Given the description of an element on the screen output the (x, y) to click on. 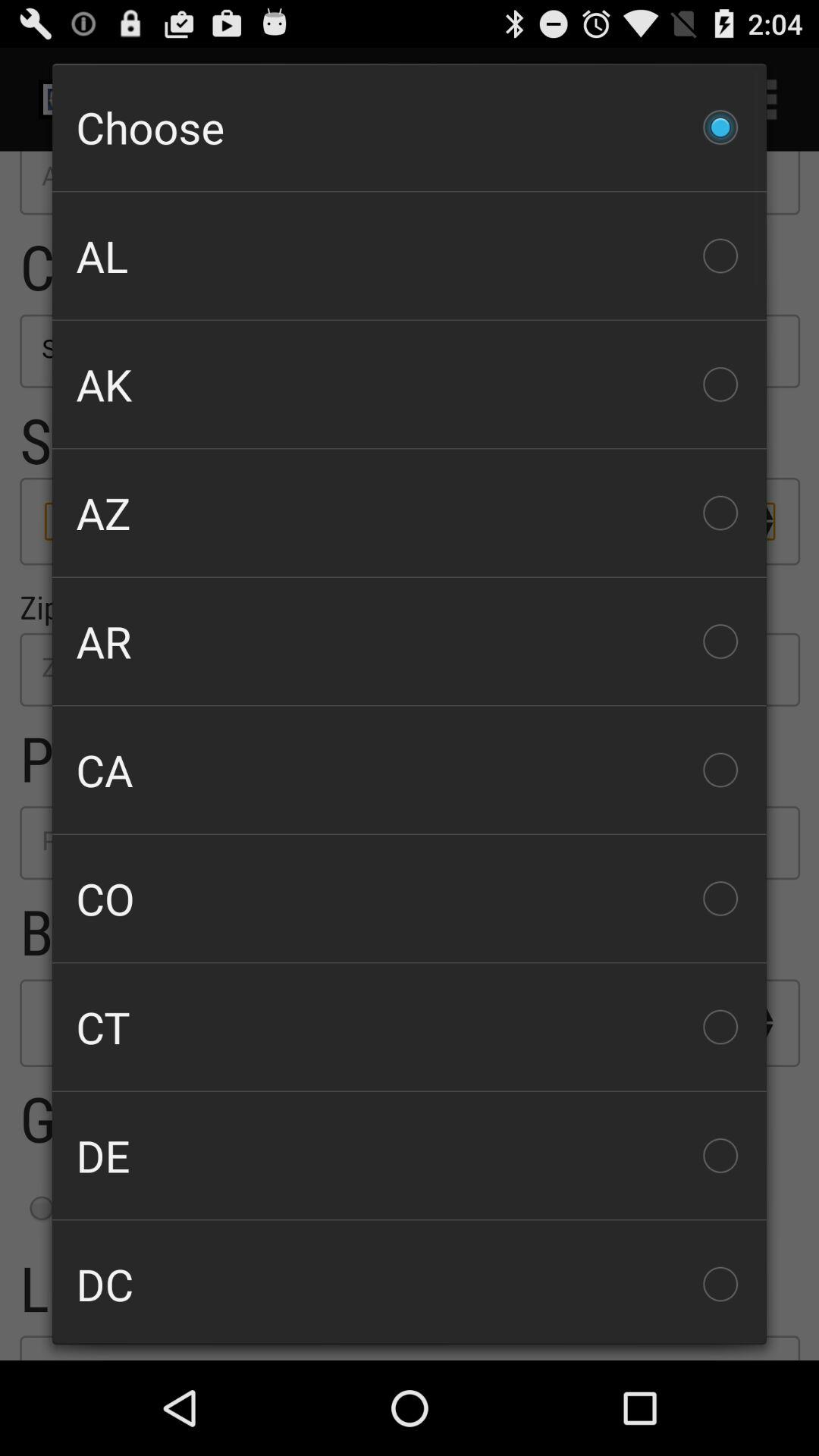
choose the icon above the dc icon (409, 1155)
